Given the description of an element on the screen output the (x, y) to click on. 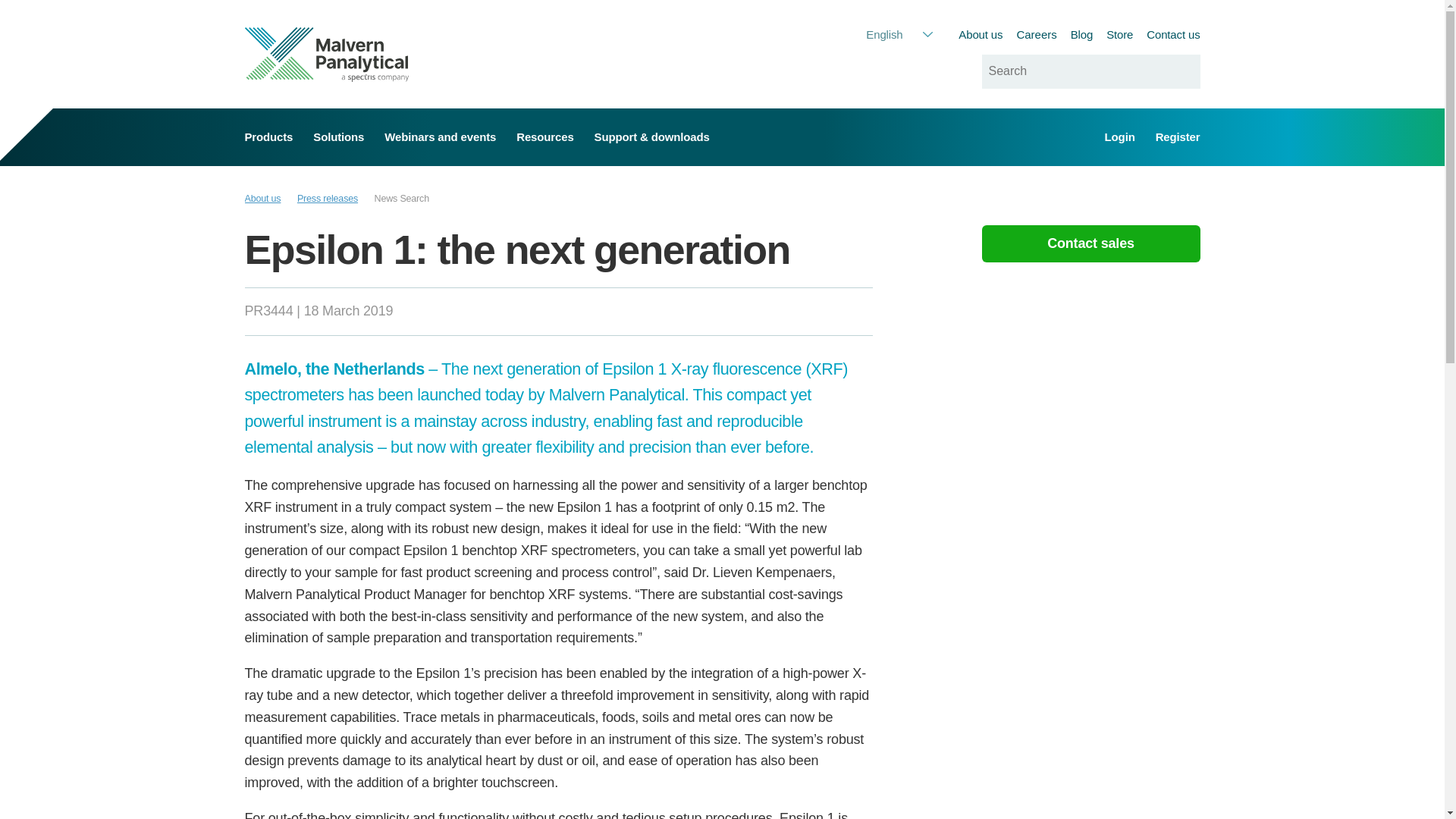
About us (262, 198)
Login (1120, 136)
Products (268, 136)
Contact sales (1090, 243)
Contact us (1173, 33)
Register (1177, 136)
Webinars and events (440, 136)
Press releases (327, 198)
Resources (544, 136)
About us (980, 33)
